Given the description of an element on the screen output the (x, y) to click on. 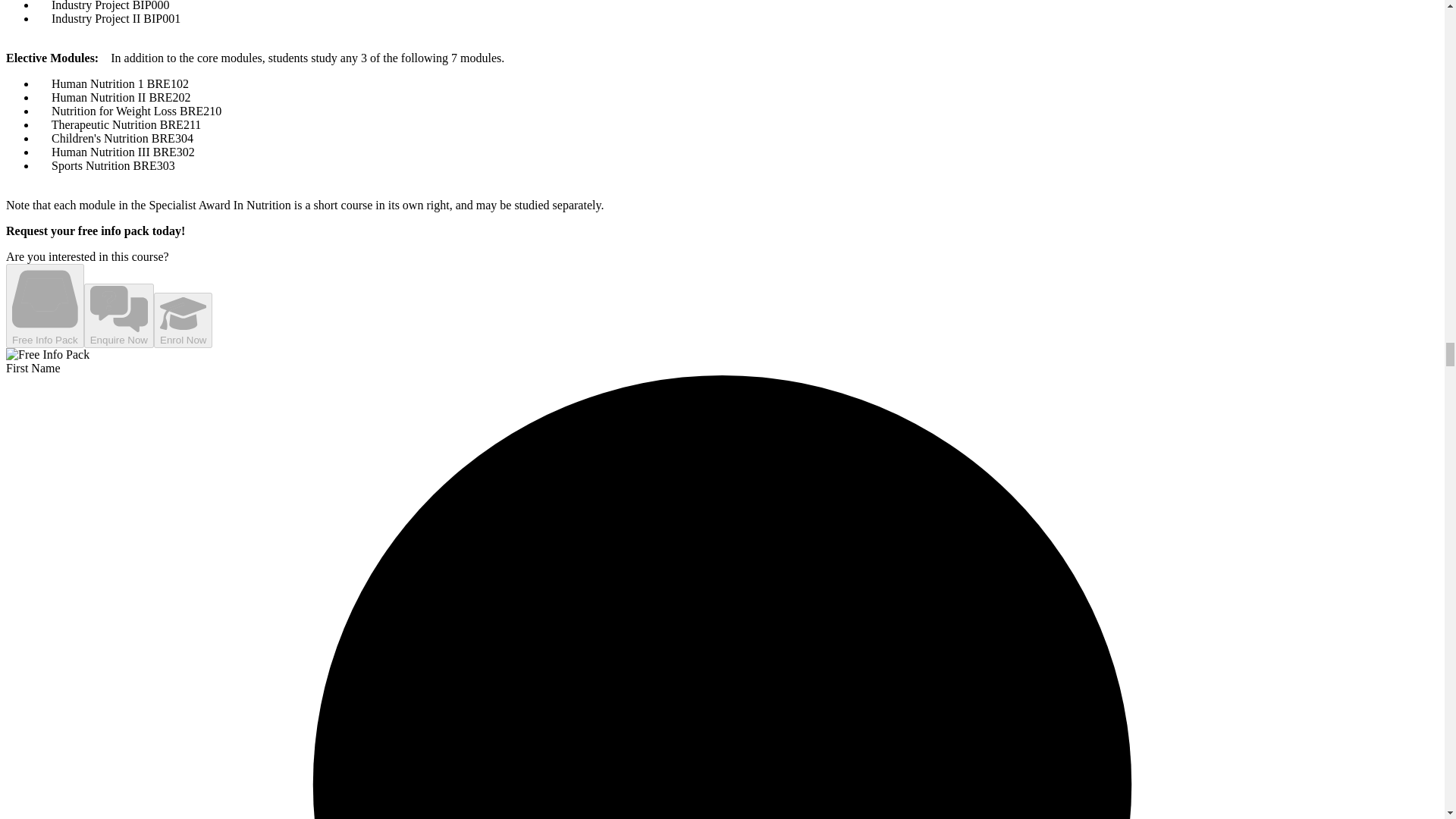
Enrol Now (183, 320)
Free Info Pack (44, 305)
Enquire Now (119, 315)
